Given the description of an element on the screen output the (x, y) to click on. 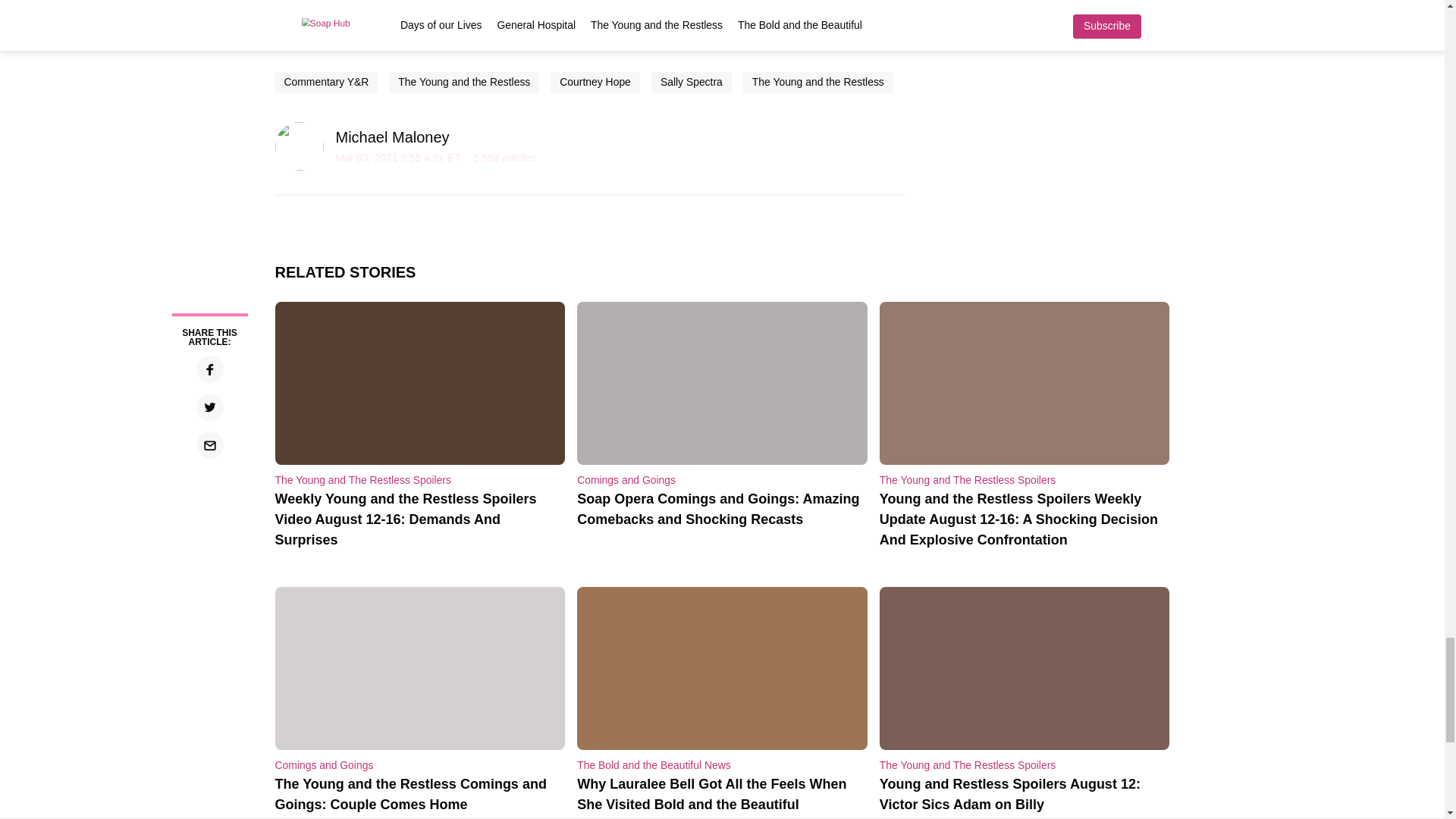
The Young and the Restless (463, 82)
The Young and the Restless (817, 82)
Sally Spectra (691, 82)
Courtney Hope (595, 82)
Michael Maloney (391, 136)
